Given the description of an element on the screen output the (x, y) to click on. 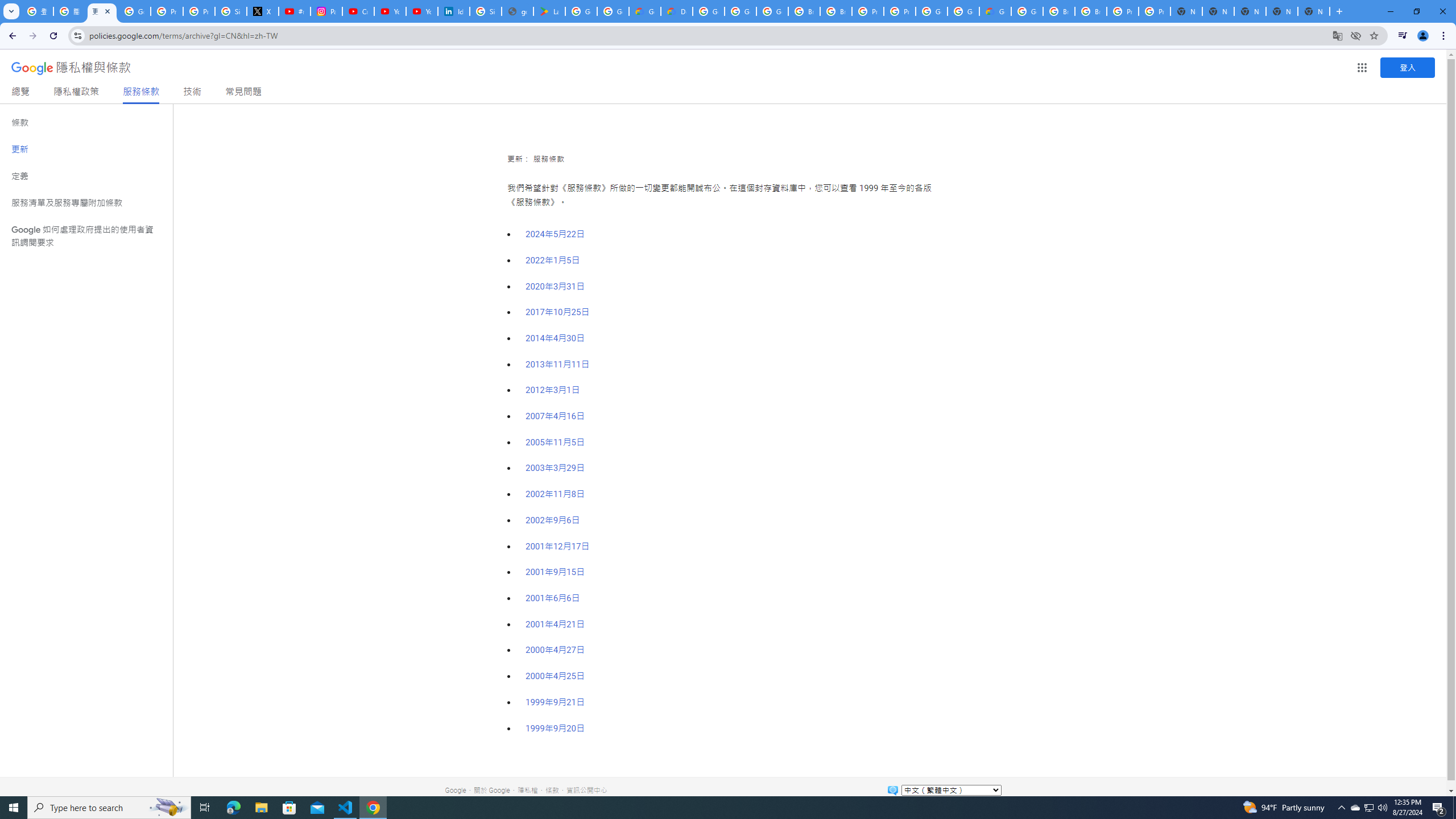
Sign in - Google Accounts (230, 11)
X (262, 11)
Browse Chrome as a guest - Computer - Google Chrome Help (804, 11)
New Tab (1313, 11)
